Given the description of an element on the screen output the (x, y) to click on. 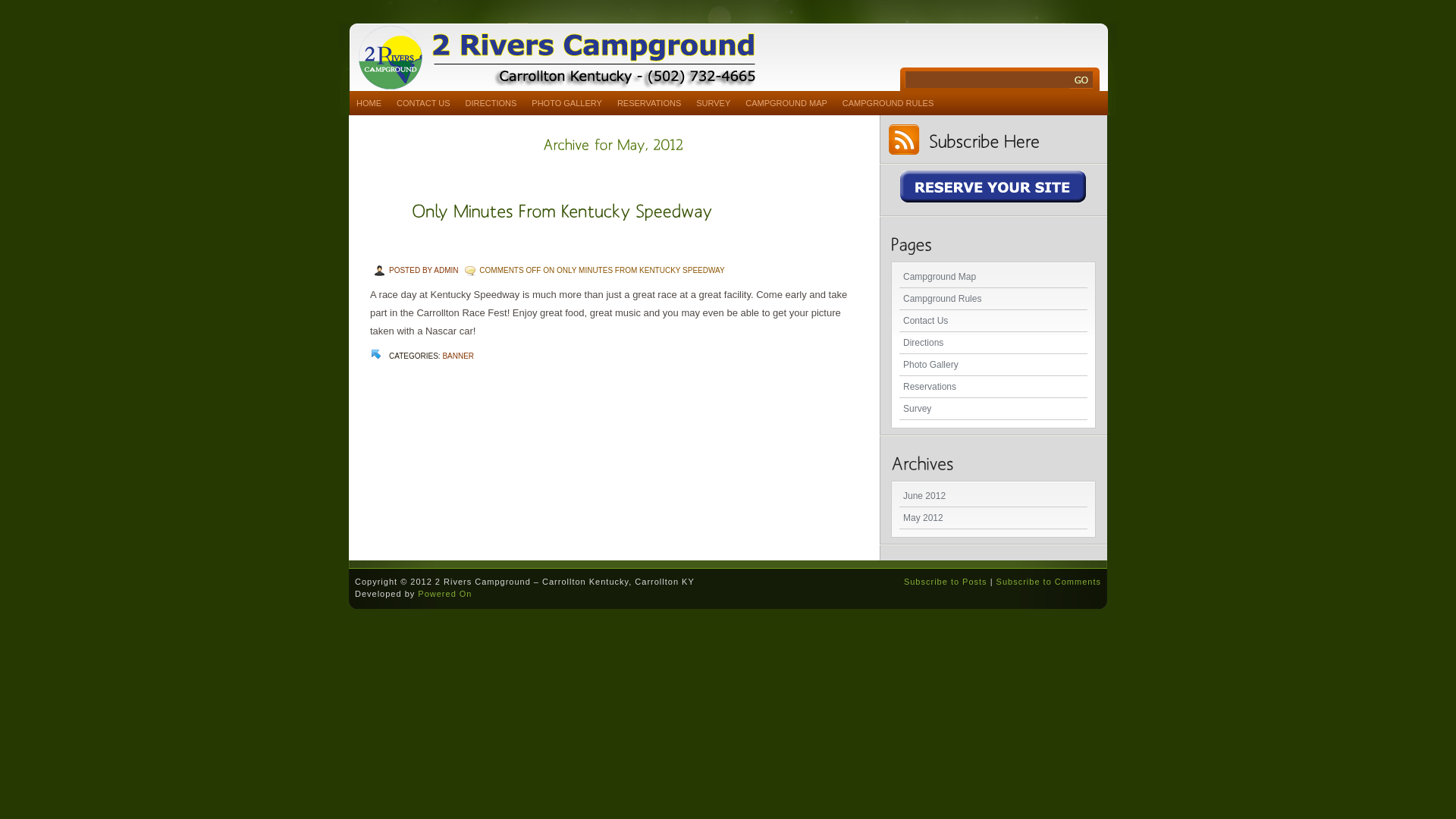
CAMPGROUND RULES Element type: text (887, 102)
RESERVATIONS Element type: text (648, 102)
Directions Element type: text (993, 343)
Contact Us Element type: text (993, 321)
June 2012 Element type: text (993, 496)
Permanent Link to Only Minutes From Kentucky Speedway Element type: hover (561, 209)
Subscribe to Comments Element type: text (1048, 581)
May 2012 Element type: text (993, 518)
PHOTO GALLERY Element type: text (566, 102)
SURVEY Element type: text (712, 102)
Subscribe to Posts Element type: text (945, 581)
Campground Map Element type: text (993, 277)
Survey Element type: text (993, 409)
BANNER Element type: text (457, 355)
CAMPGROUND MAP Element type: text (785, 102)
Campground Rules Element type: text (993, 299)
DIRECTIONS Element type: text (491, 102)
Powered On Element type: text (444, 593)
Reservations Element type: text (993, 387)
Photo Gallery Element type: text (993, 365)
CONTACT US Element type: text (423, 102)
HOME Element type: text (368, 102)
